Given the description of an element on the screen output the (x, y) to click on. 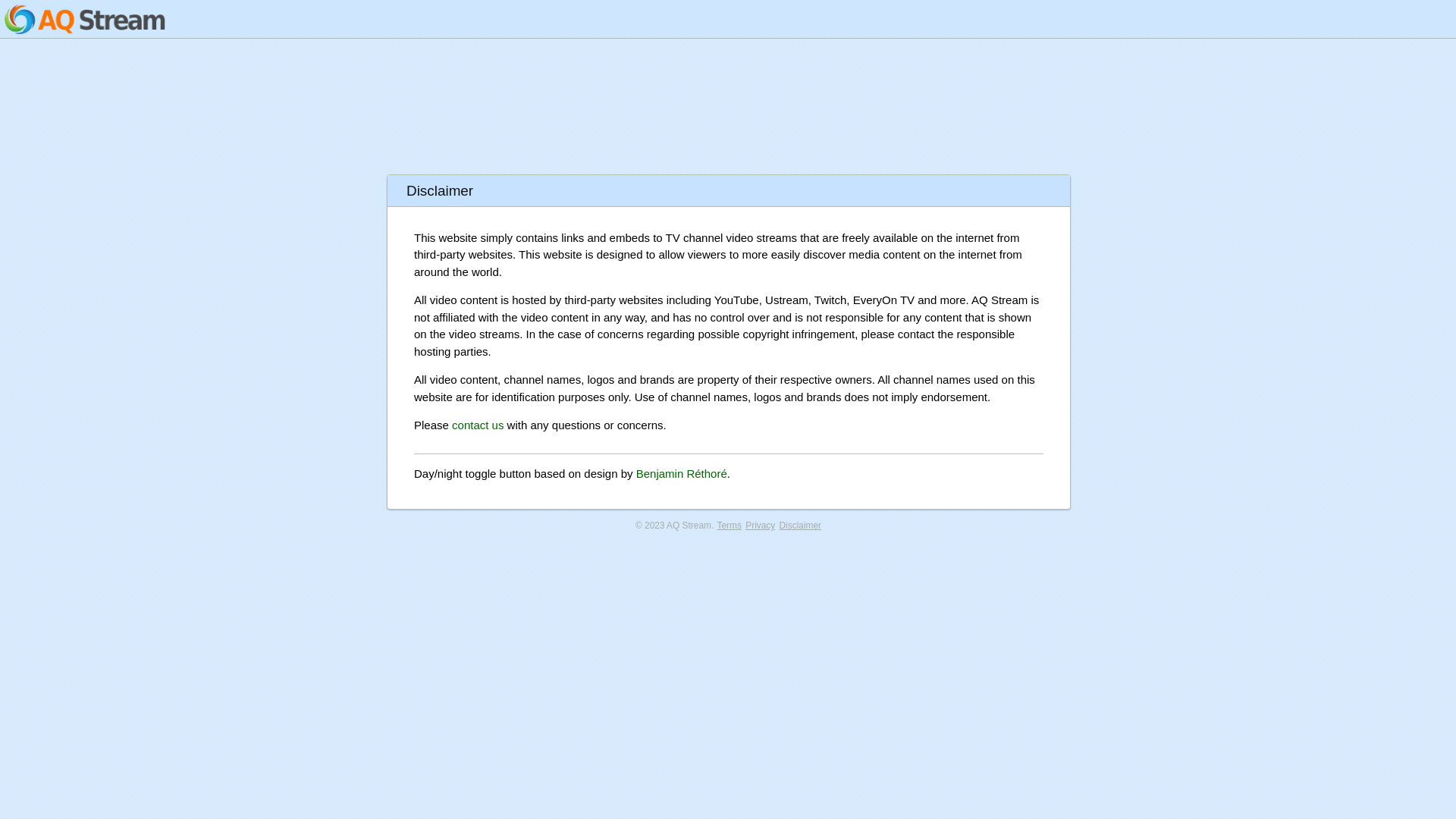
Disclaimer (800, 525)
Terms (729, 525)
Privacy (760, 525)
contact us (477, 424)
